Given the description of an element on the screen output the (x, y) to click on. 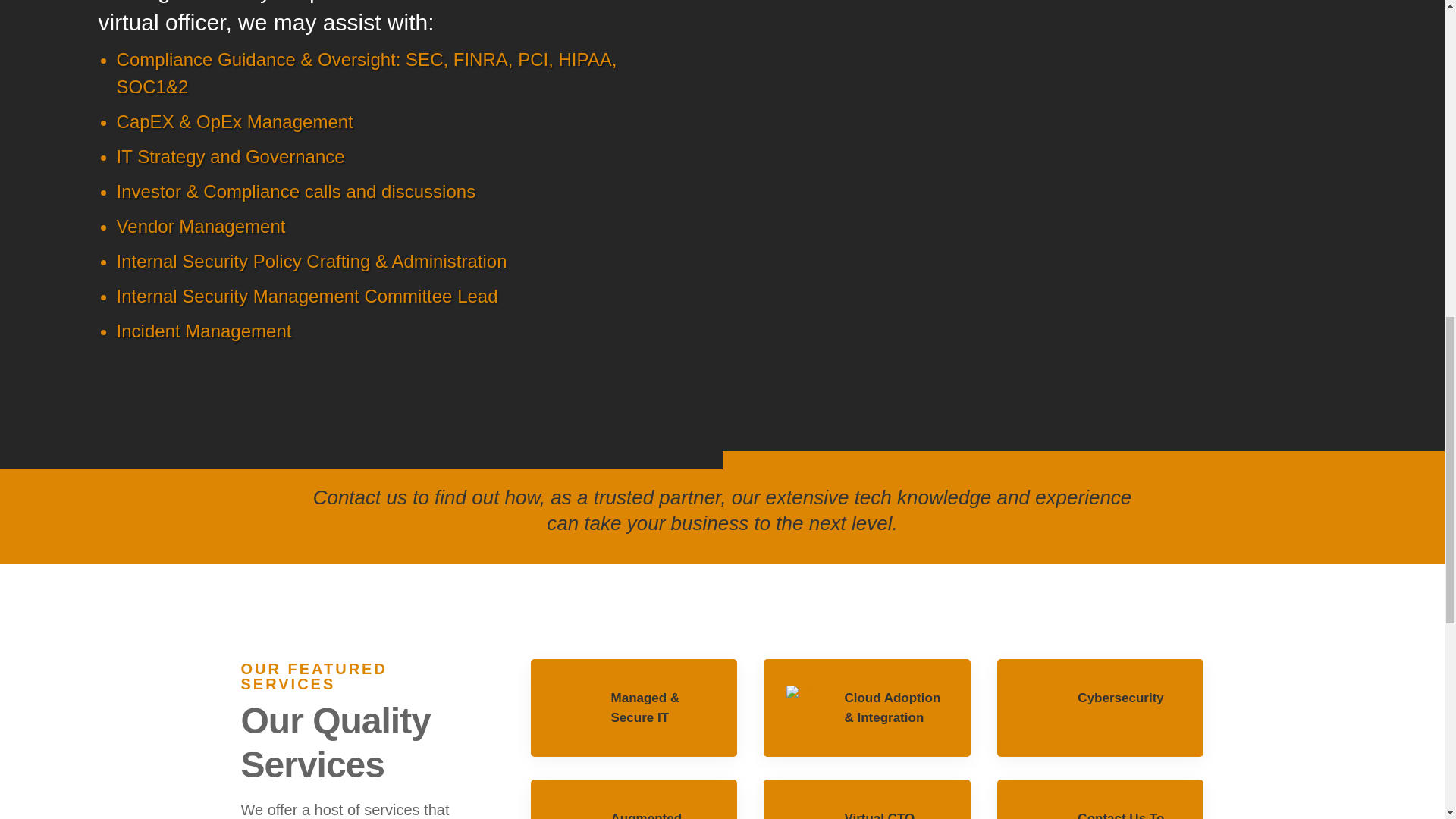
Virtual CTO (879, 815)
Cybersecurity (1120, 698)
Contact Us To Get Started! (1120, 815)
Augmented Staffing (646, 815)
